Given the description of an element on the screen output the (x, y) to click on. 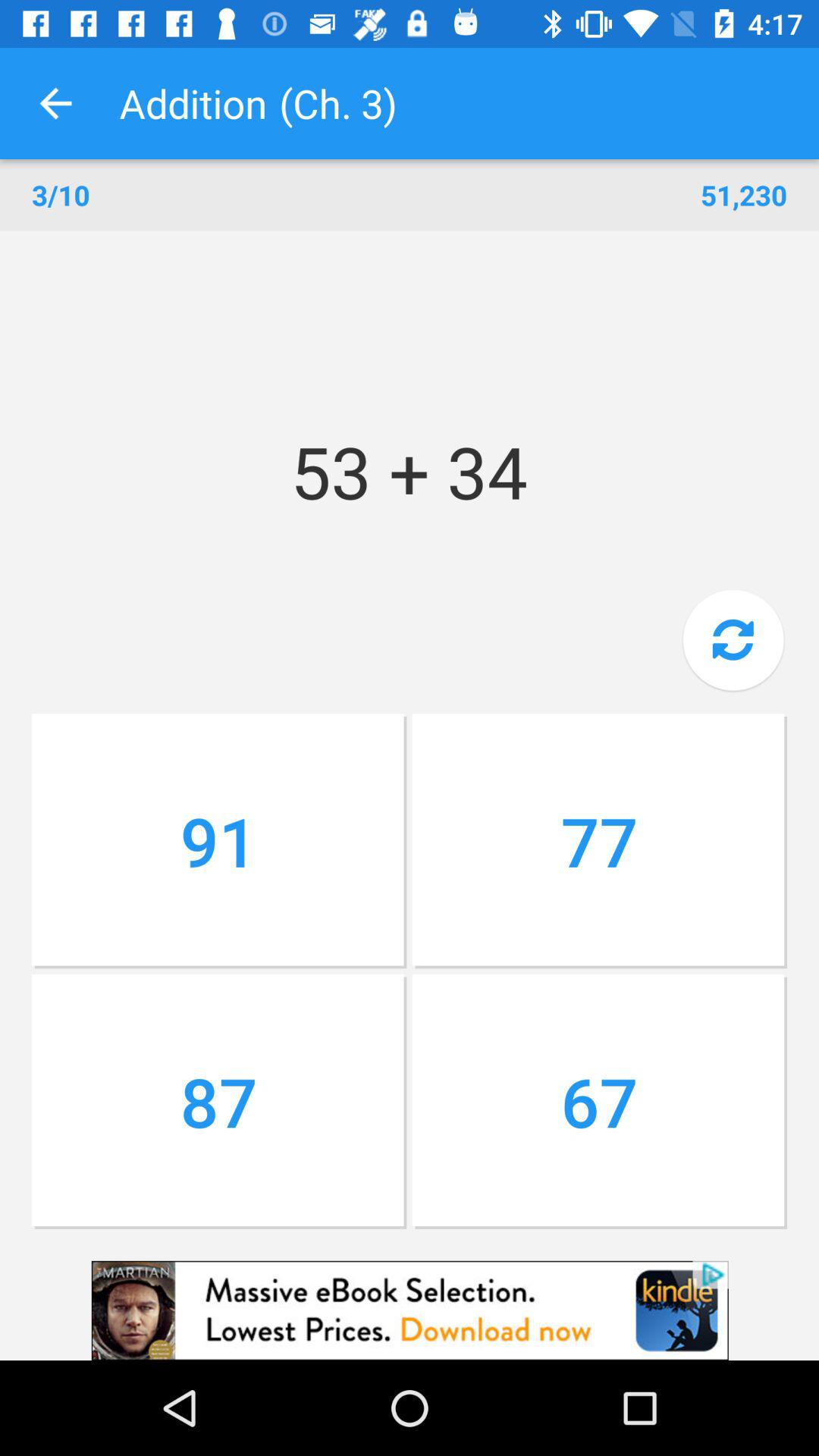
opens the advertisement (409, 1310)
